Given the description of an element on the screen output the (x, y) to click on. 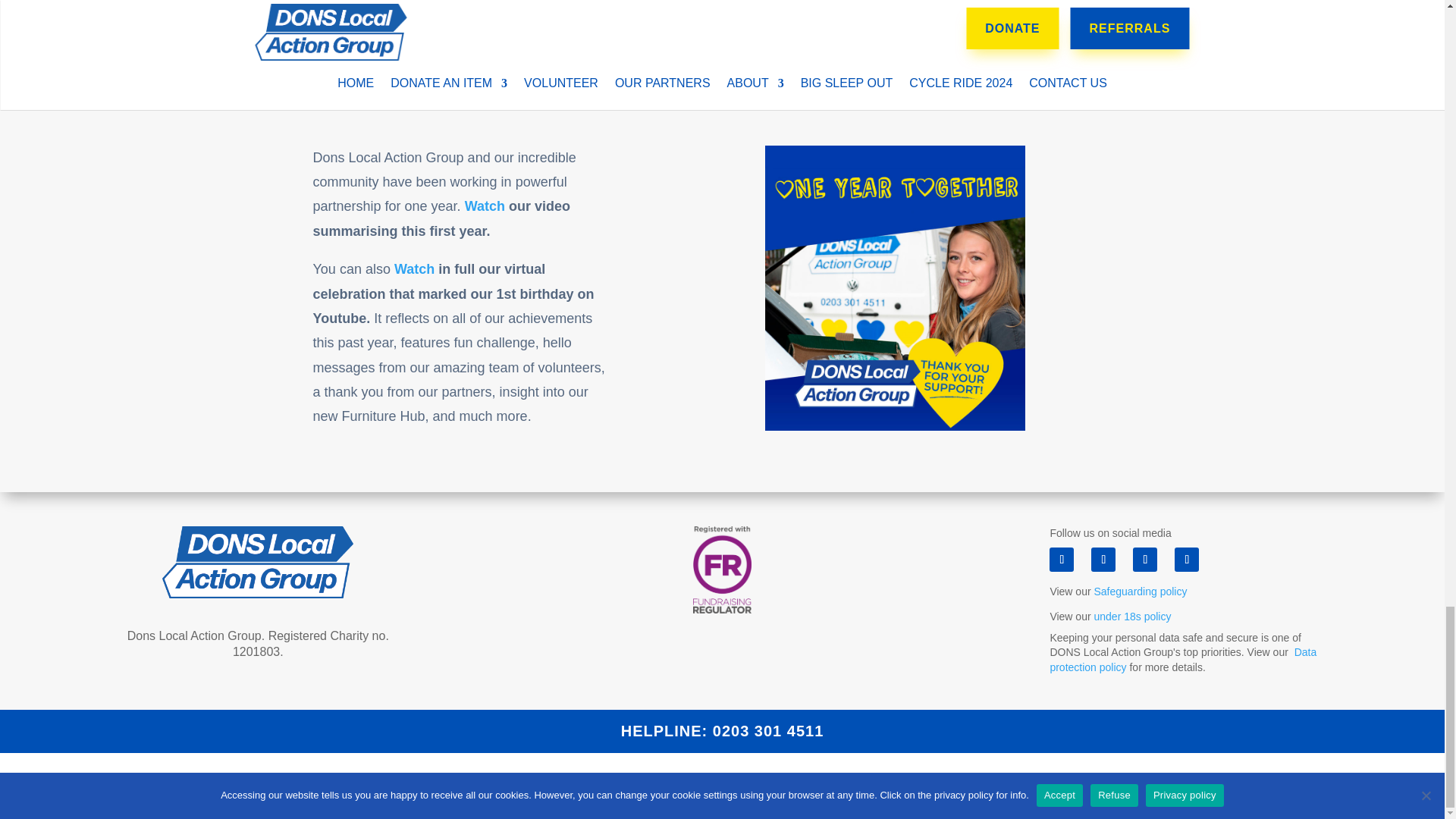
Watch (413, 268)
Follow on Instagram (1144, 559)
Follow on LinkedIn (1186, 559)
photo-one-year-on (895, 288)
Follow on Twitter (1102, 559)
Watch (486, 206)
Follow on Facebook (1061, 559)
